Given the description of an element on the screen output the (x, y) to click on. 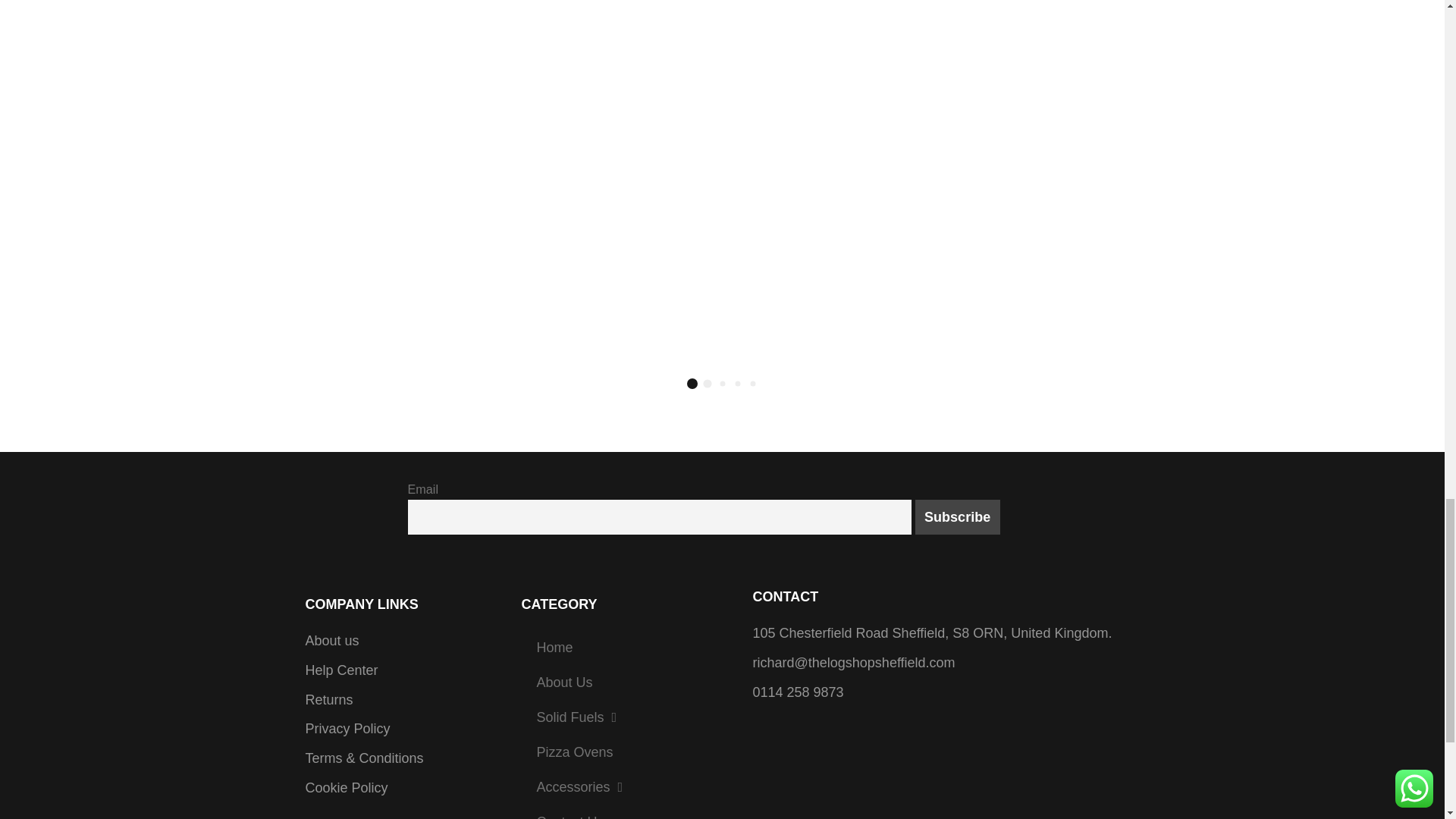
Subscribe (957, 516)
